Given the description of an element on the screen output the (x, y) to click on. 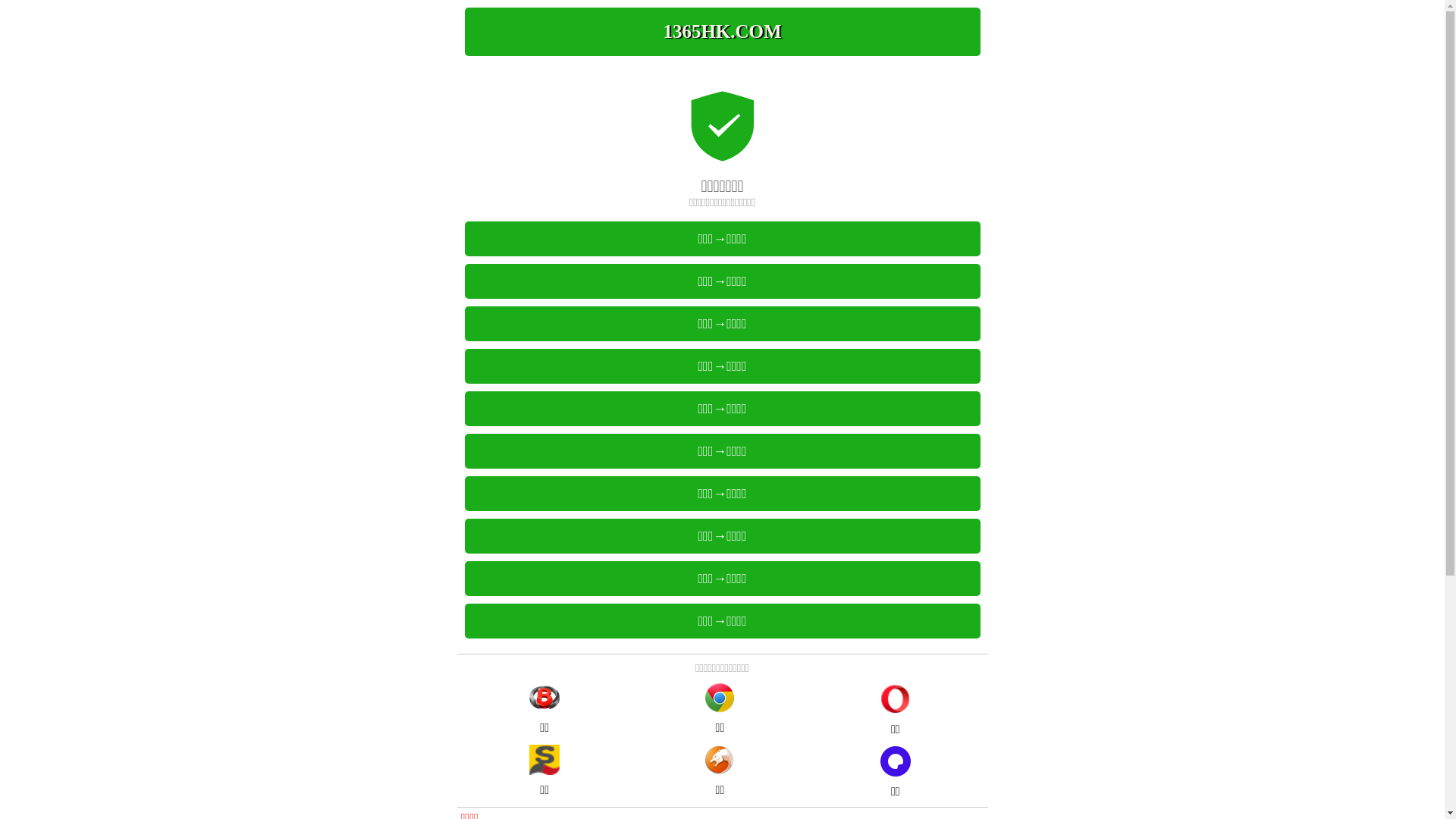
1365HK.COM Element type: text (721, 31)
